Given the description of an element on the screen output the (x, y) to click on. 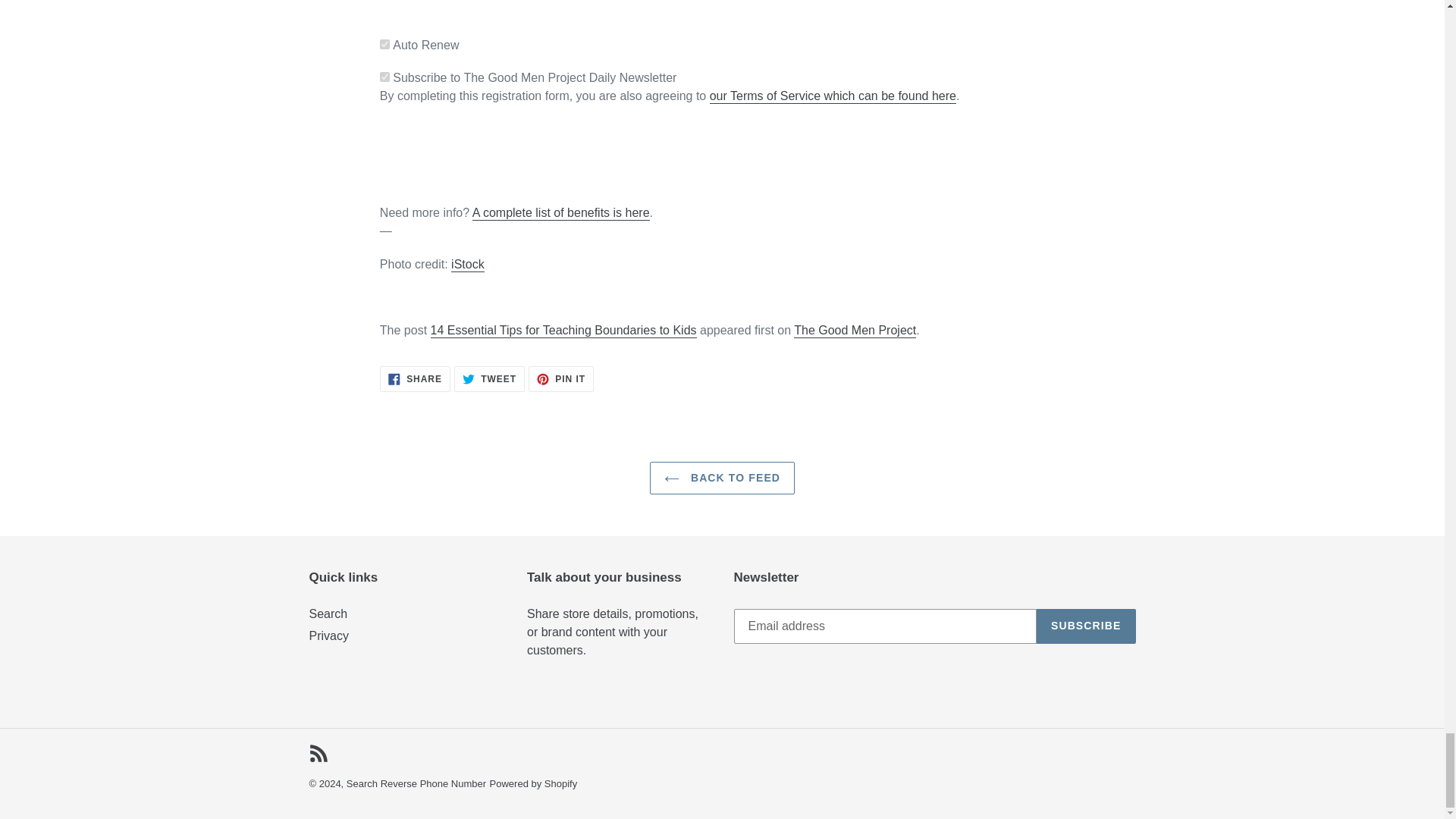
BACK TO FEED (721, 477)
on (385, 76)
A complete list of benefits is here (560, 213)
on (385, 44)
14 Essential Tips for Teaching Boundaries to Kids (563, 330)
our Terms of Service which can be found here (833, 96)
iStock (467, 264)
The Good Men Project (561, 379)
Search (414, 379)
